Given the description of an element on the screen output the (x, y) to click on. 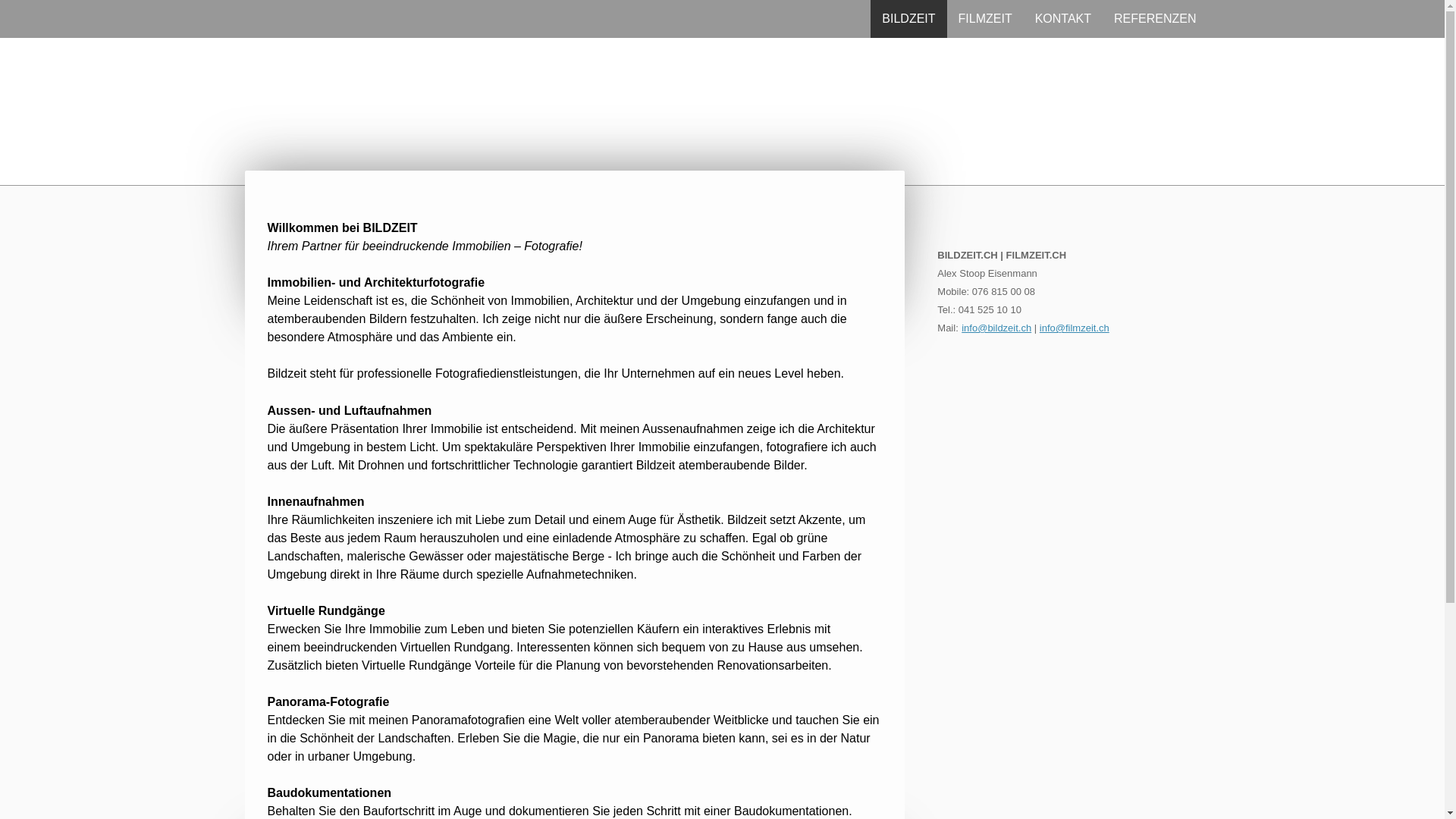
info@filmzeit.ch Element type: text (1074, 327)
info@bildzeit.ch Element type: text (996, 327)
REFERENZEN Element type: text (1154, 18)
FILMZEIT Element type: text (985, 18)
KONTAKT Element type: text (1062, 18)
BILDZEIT Element type: text (908, 18)
